Given the description of an element on the screen output the (x, y) to click on. 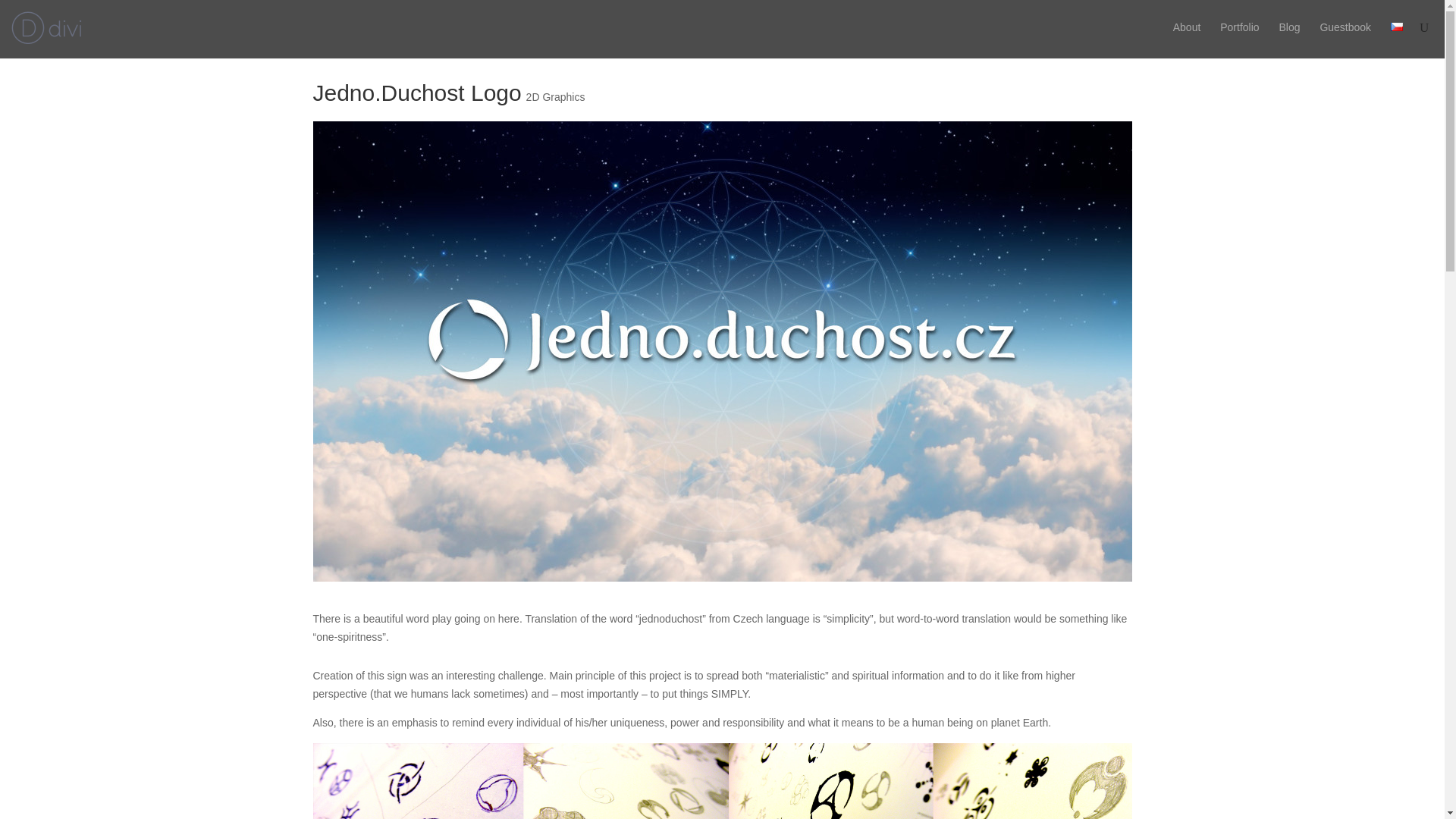
2D Graphics (555, 96)
Guestbook (1345, 38)
Portfolio (1239, 38)
